Given the description of an element on the screen output the (x, y) to click on. 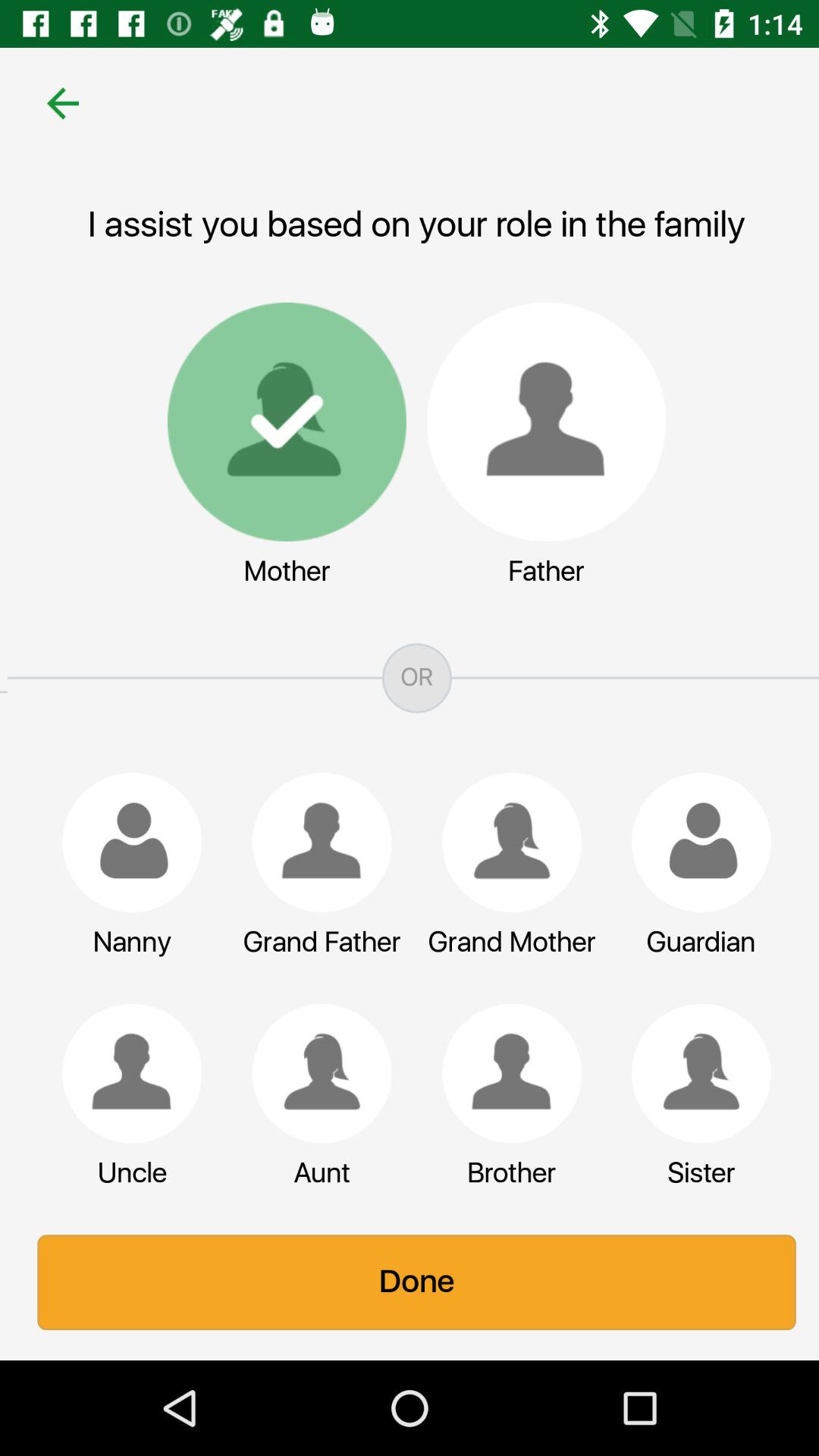
swipe to the done icon (409, 1282)
